Given the description of an element on the screen output the (x, y) to click on. 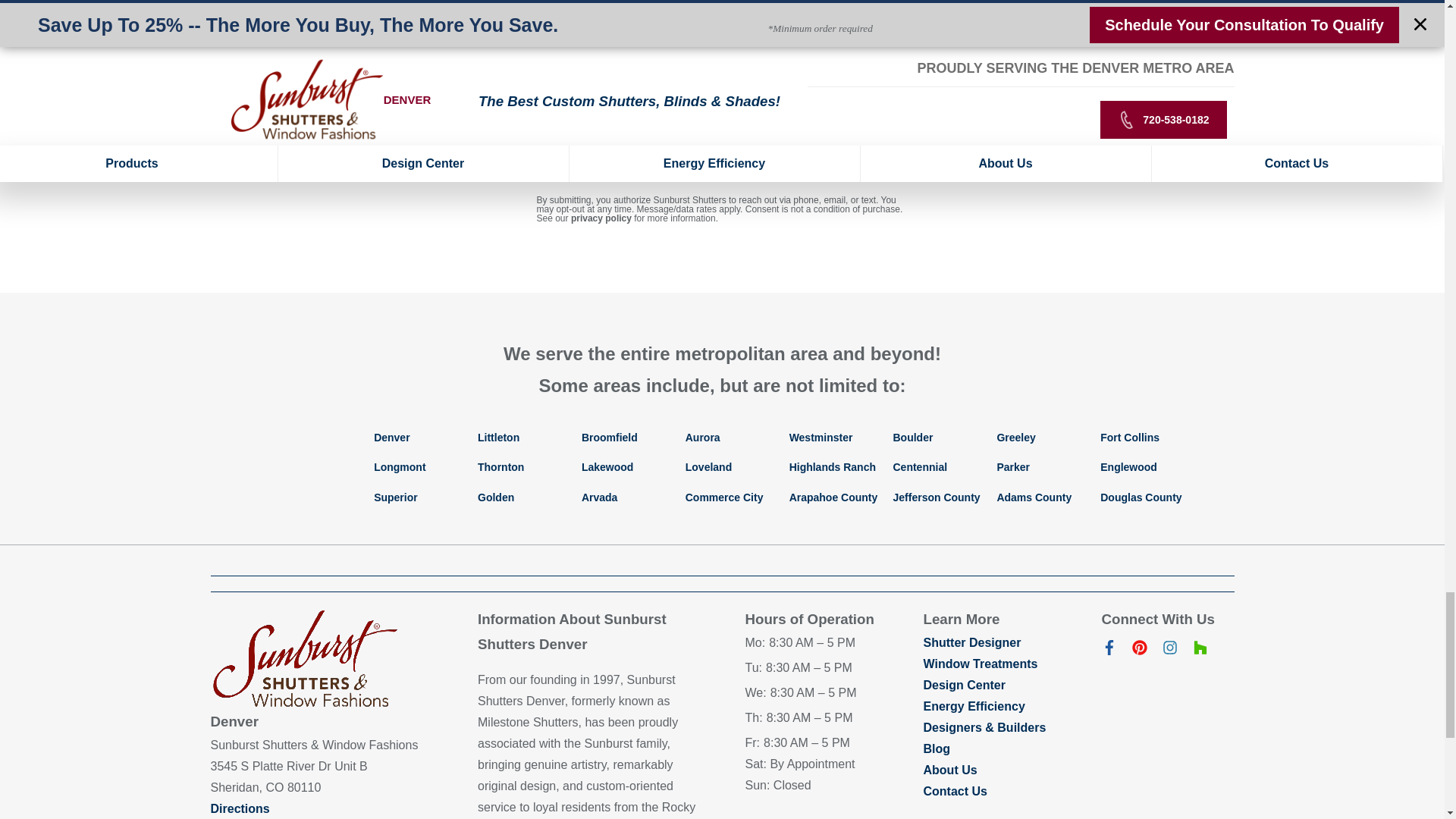
Like us on Facebook (1108, 650)
SCHEDULE NOW (722, 159)
Save us on Houzz (1199, 650)
on (470, 108)
Follow us on Pinterest (1139, 650)
Follow us on Instagram (1168, 650)
